Given the description of an element on the screen output the (x, y) to click on. 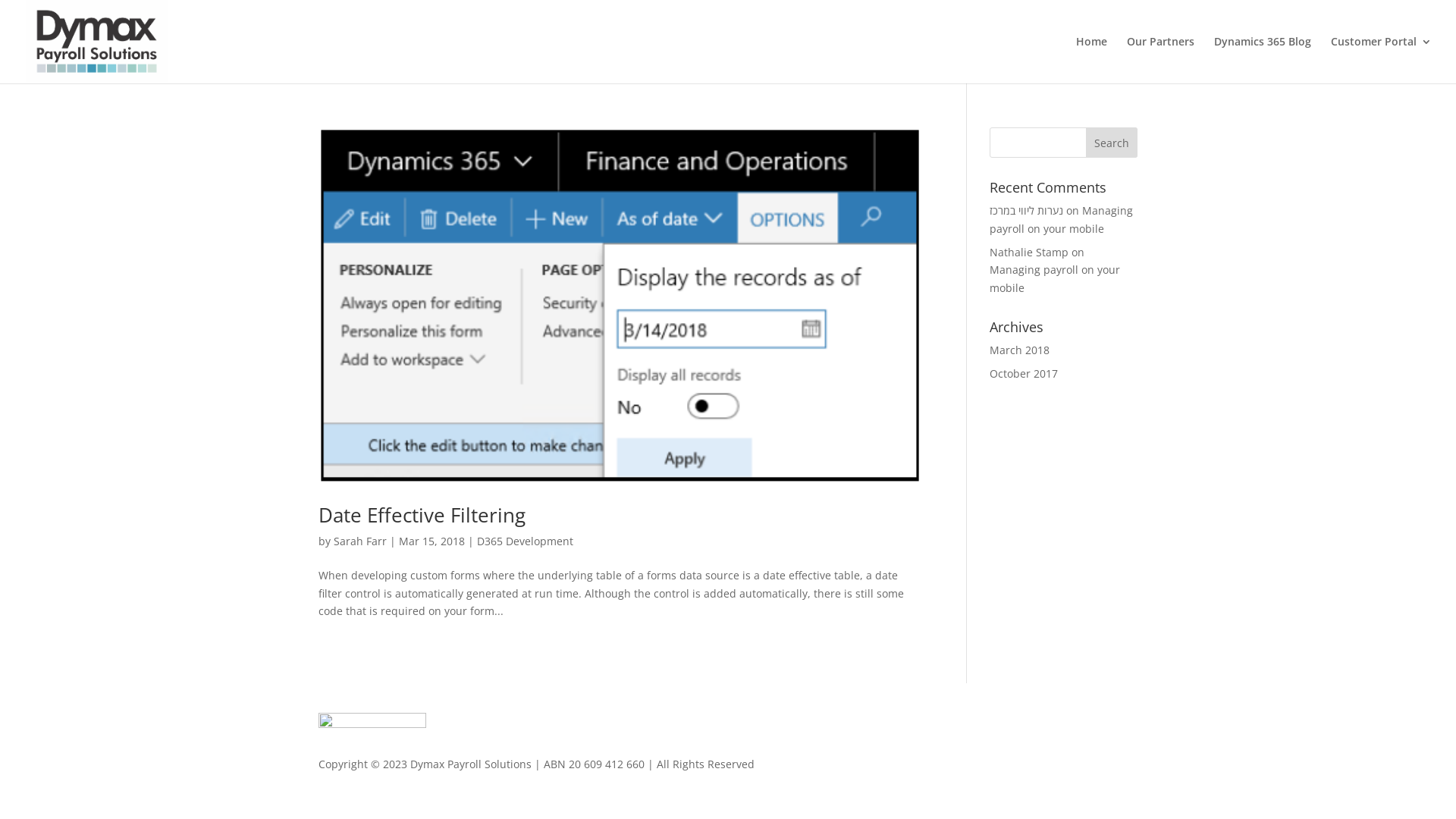
Sarah Farr Element type: text (359, 540)
March 2018 Element type: text (1019, 349)
Date Effective Filtering Element type: text (421, 514)
Managing payroll on your mobile Element type: text (1054, 278)
Customer Portal Element type: text (1380, 59)
Our Partners Element type: text (1160, 59)
Managing payroll on your mobile Element type: text (1060, 219)
October 2017 Element type: text (1023, 373)
D365 Development Element type: text (524, 540)
Dynamics 365 Blog Element type: text (1262, 59)
Home Element type: text (1091, 59)
Search Element type: text (1111, 142)
